Given the description of an element on the screen output the (x, y) to click on. 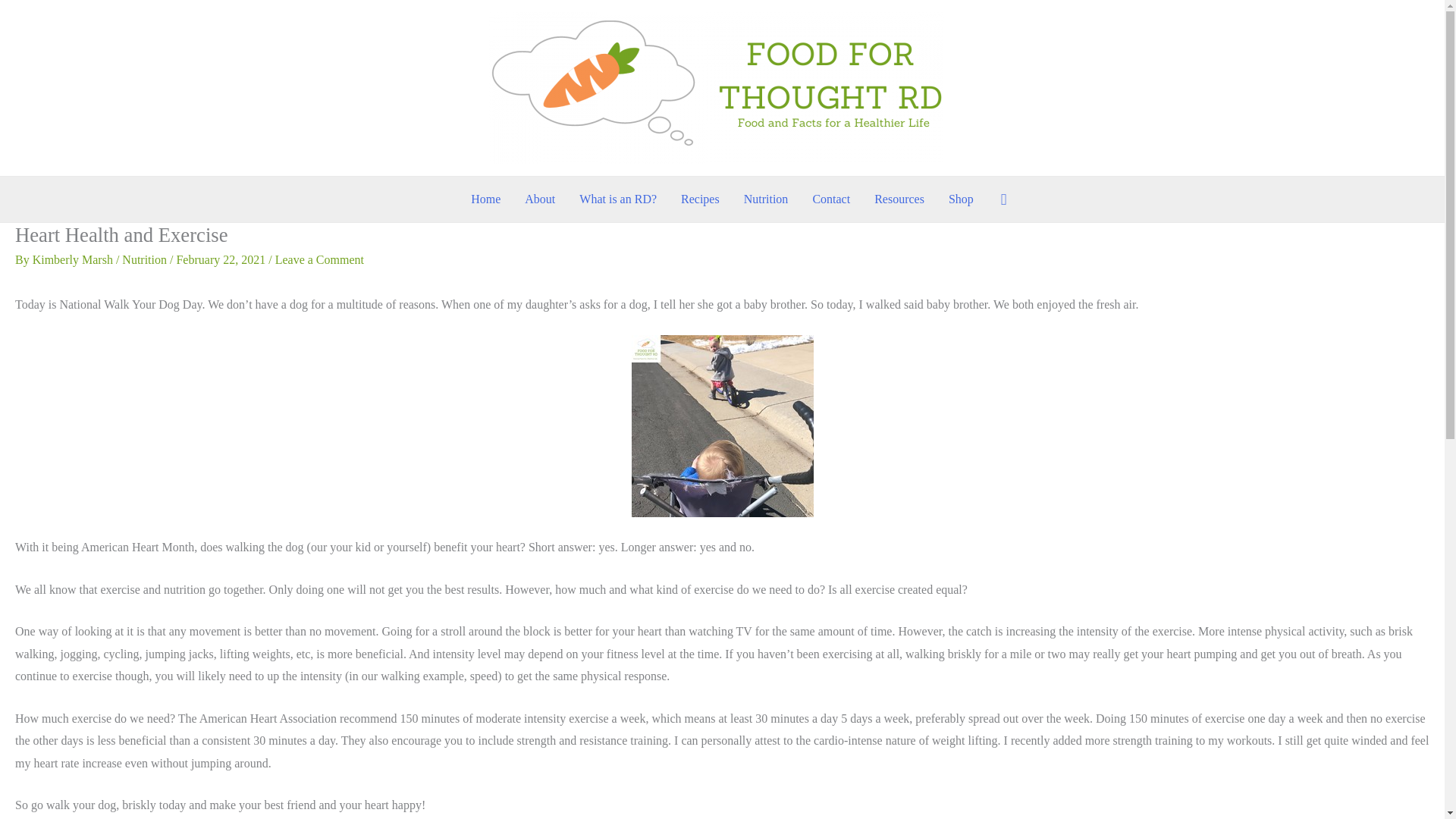
Search (18, 15)
Search (1004, 199)
Resources (898, 198)
What is an RD? (617, 198)
Leave a Comment (319, 259)
About (539, 198)
Kimberly Marsh (74, 259)
Contact (830, 198)
Shop (960, 198)
Recipes (700, 198)
View all posts by Kimberly Marsh (74, 259)
Nutrition (144, 259)
Nutrition (766, 198)
Home (485, 198)
